Given the description of an element on the screen output the (x, y) to click on. 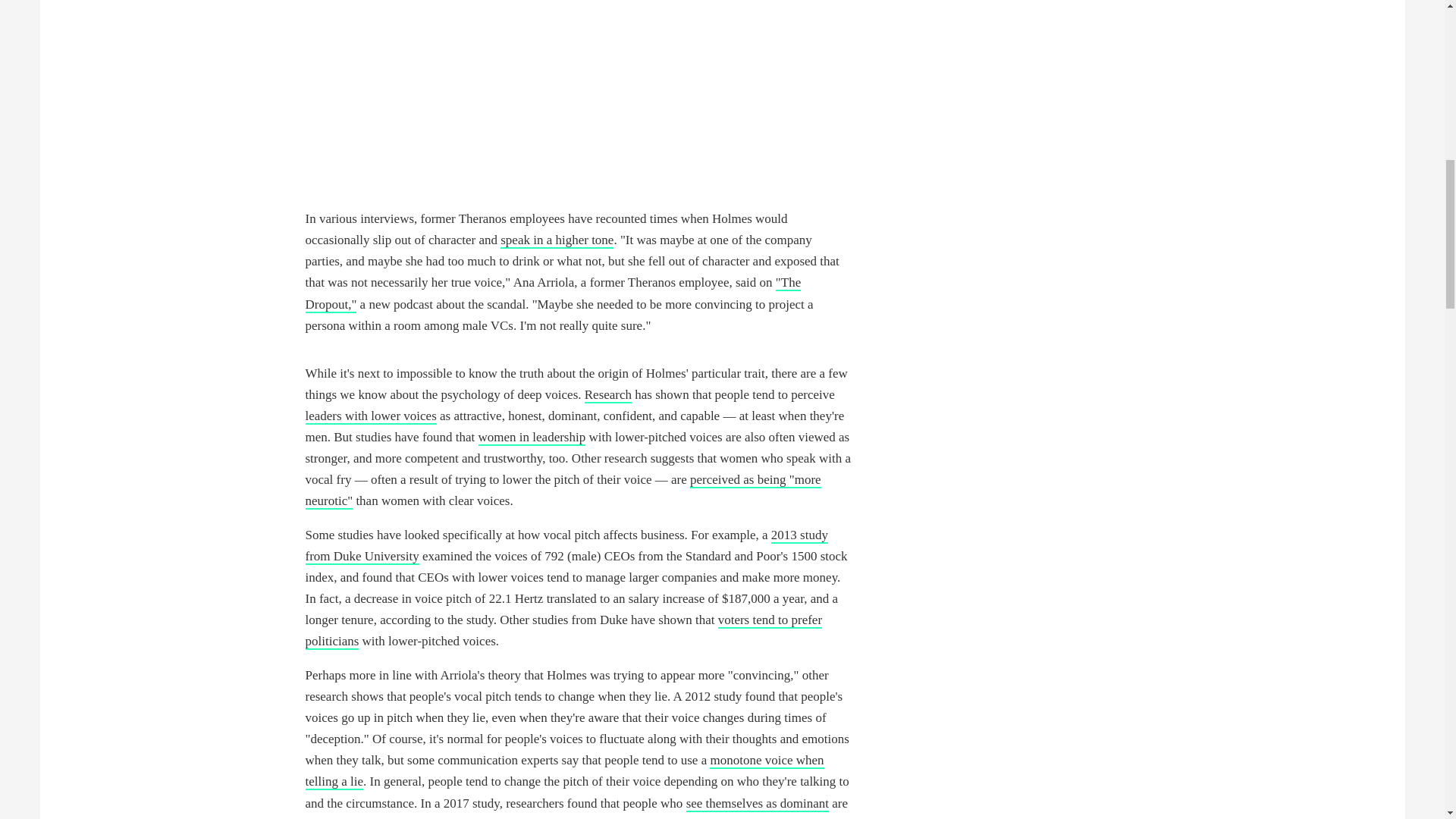
"The Dropout," (552, 293)
perceived as being "more neurotic" (562, 490)
2013 study from Duke University (565, 546)
women in leadership (532, 437)
see themselves as dominant (756, 804)
Research (608, 395)
monotone voice when telling a lie (564, 771)
speak in a higher tone (556, 240)
voters tend to prefer politicians (563, 631)
leaders with lower voices (369, 416)
